Given the description of an element on the screen output the (x, y) to click on. 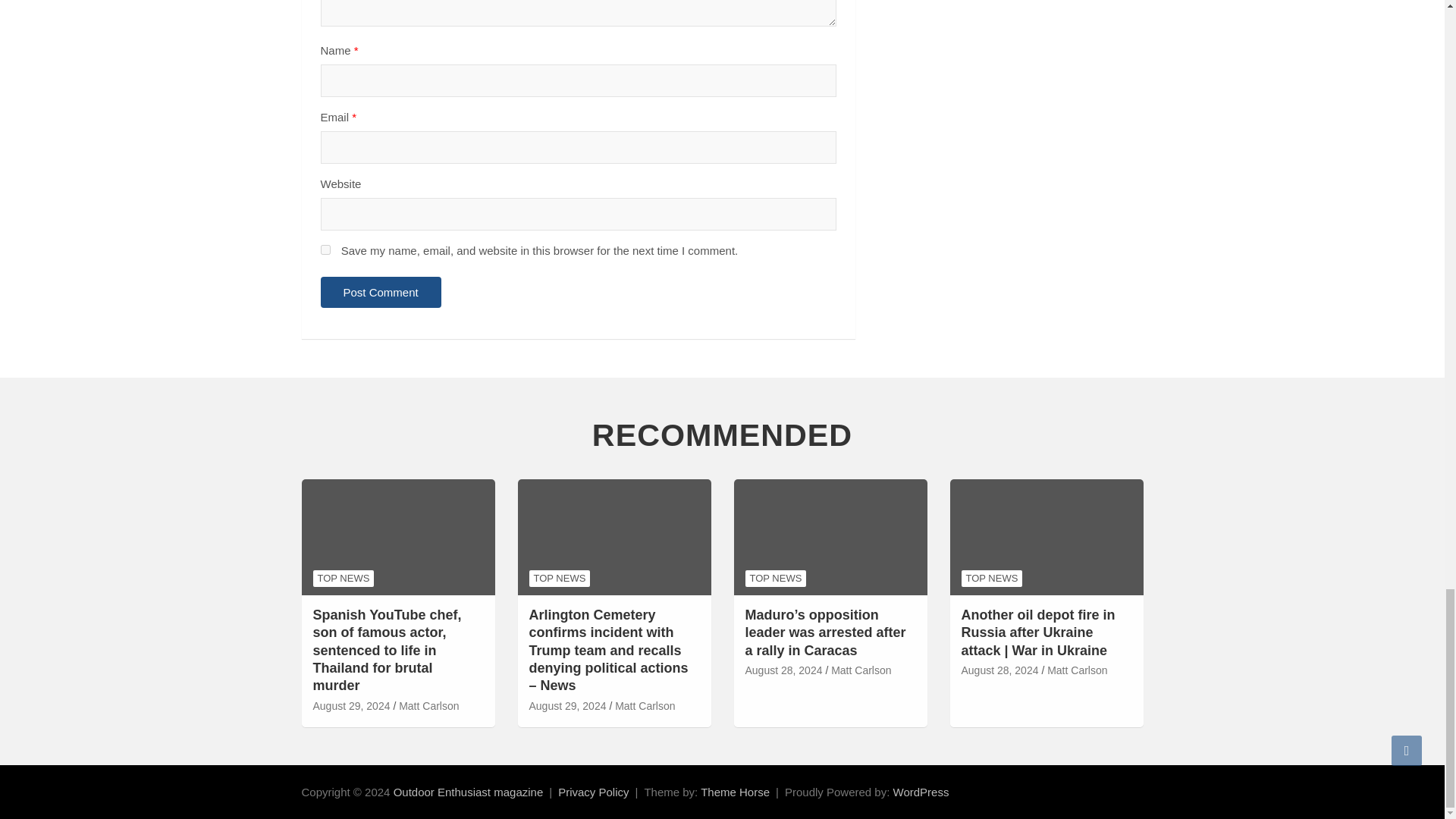
WordPress (921, 791)
Post Comment (380, 291)
Post Comment (380, 291)
yes (325, 249)
Theme Horse (735, 791)
Outdoor Enthusiast magazine (468, 791)
